Given the description of an element on the screen output the (x, y) to click on. 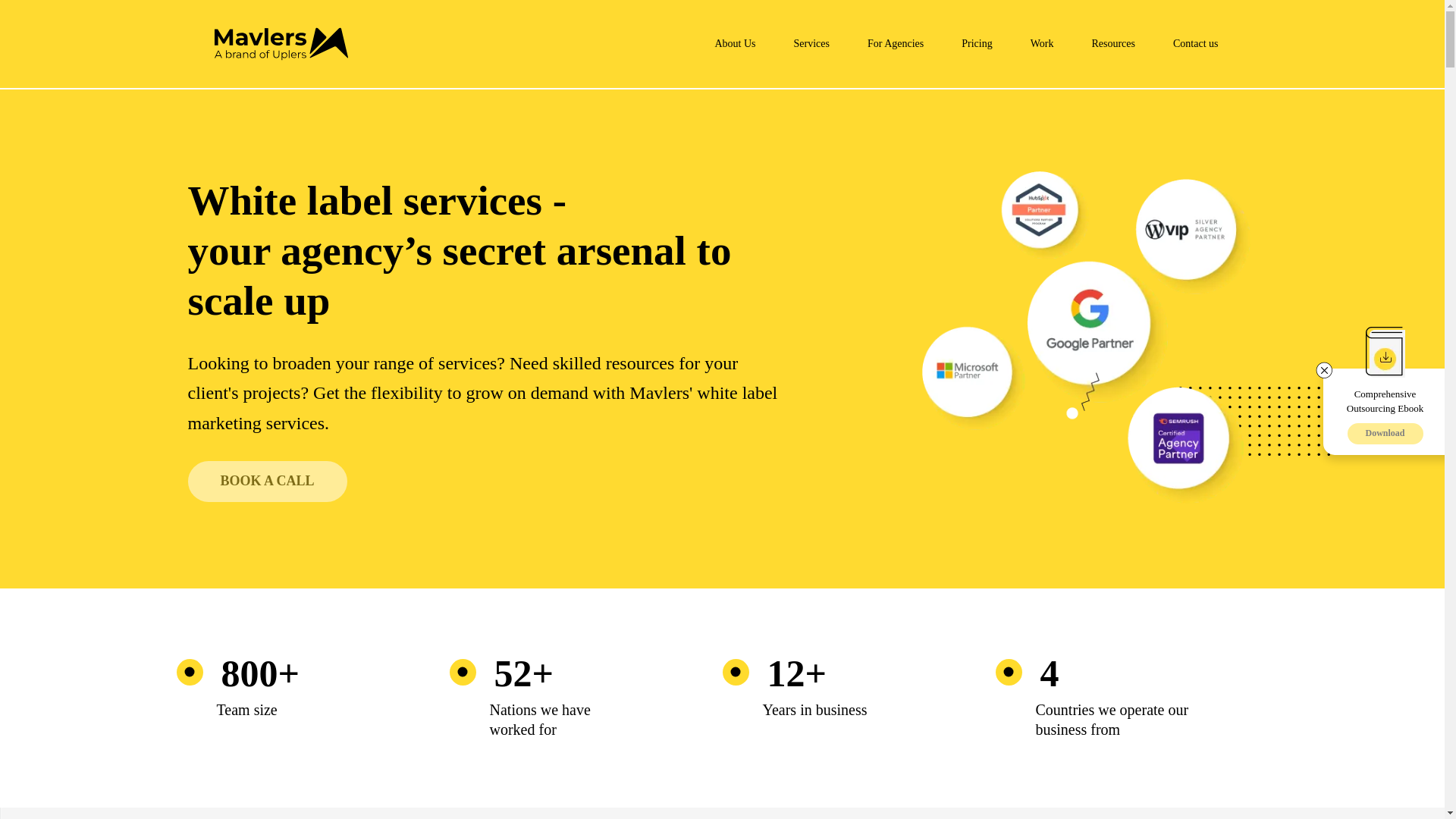
About Us (734, 43)
Mavlers (281, 43)
For Agencies (895, 43)
